Given the description of an element on the screen output the (x, y) to click on. 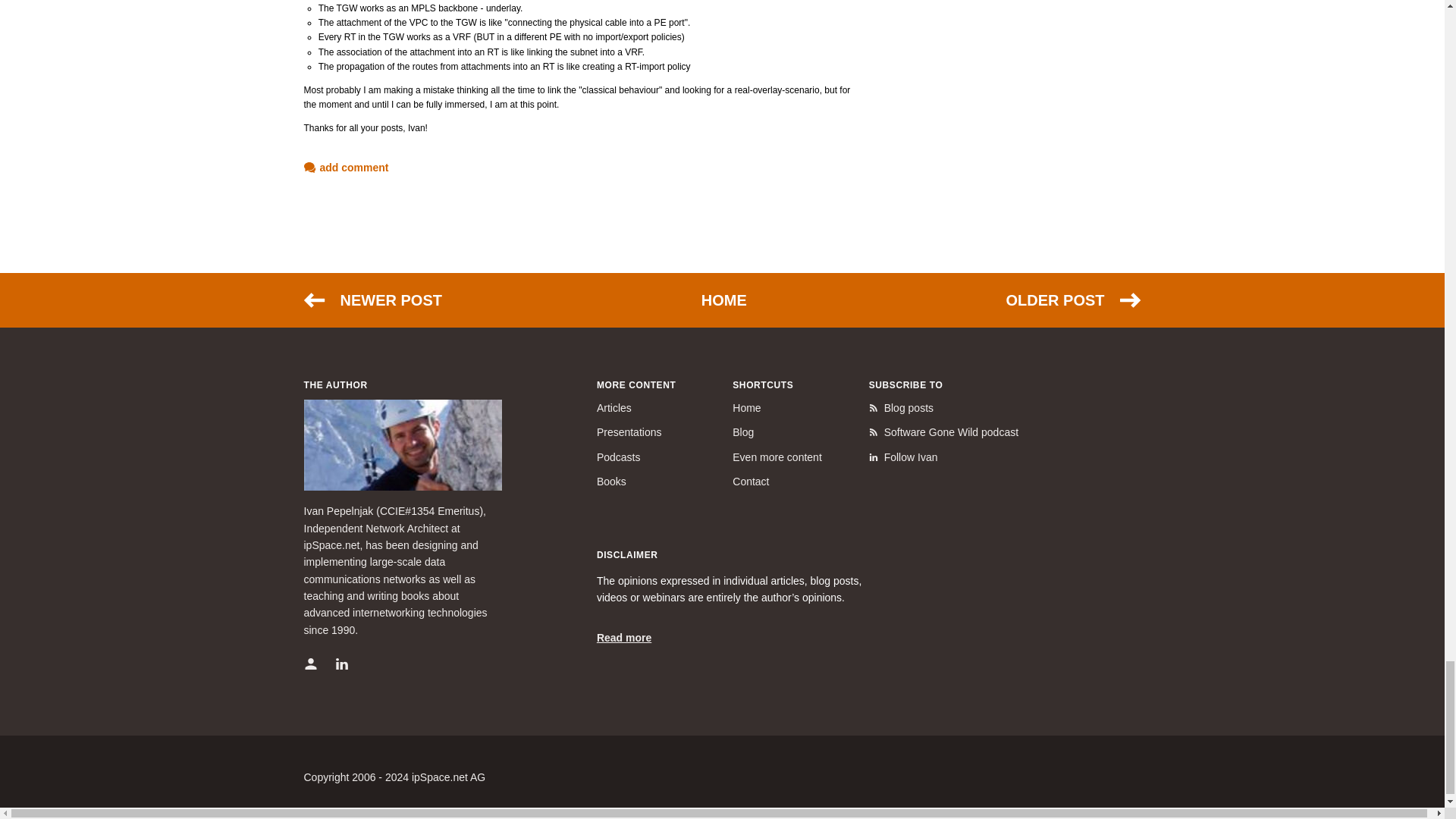
Older Post (1073, 300)
Newer Post (371, 300)
